Given the description of an element on the screen output the (x, y) to click on. 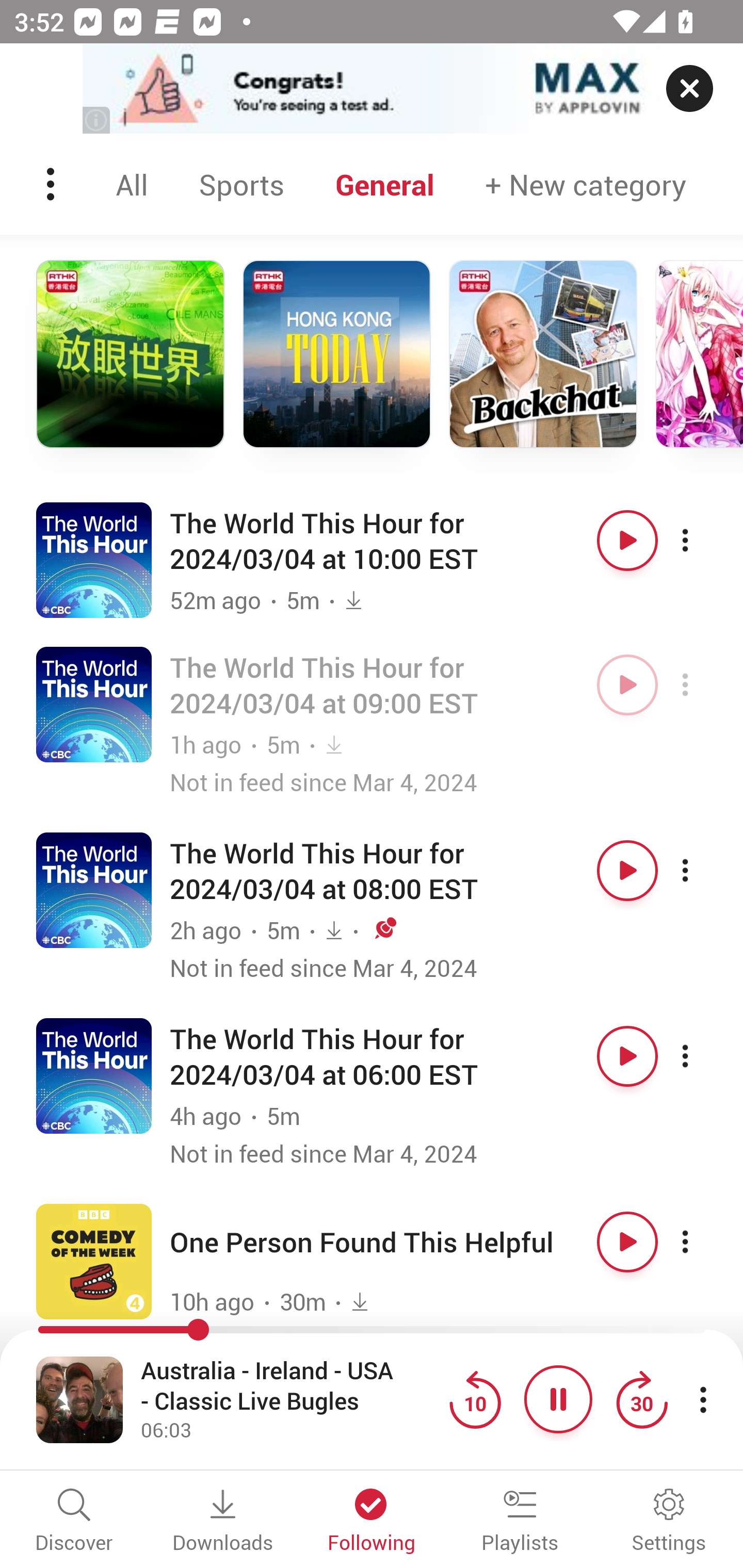
app-monetization (371, 88)
(i) (96, 119)
Menu (52, 184)
All (131, 184)
Sports (241, 184)
General (384, 184)
New category + New category (585, 184)
放眼世界 (130, 354)
Hong Kong Today (336, 354)
Backchat (542, 354)
Play button (627, 540)
More options (703, 540)
Open series The World This Hour (93, 559)
Play button (627, 685)
More options (703, 685)
Open series The World This Hour (93, 704)
Play button (627, 871)
More options (703, 871)
Open series The World This Hour (93, 890)
Play button (627, 1056)
More options (703, 1056)
Open series The World This Hour (93, 1075)
Play button (627, 1241)
More options (703, 1241)
Open series Comedy of the Week (93, 1261)
Open fullscreen player (79, 1399)
More player controls (703, 1399)
Australia - Ireland - USA - Classic Live Bugles (290, 1385)
Pause button (558, 1398)
Jump back (475, 1399)
Jump forward (641, 1399)
Discover (74, 1521)
Downloads (222, 1521)
Following (371, 1521)
Playlists (519, 1521)
Settings (668, 1521)
